Given the description of an element on the screen output the (x, y) to click on. 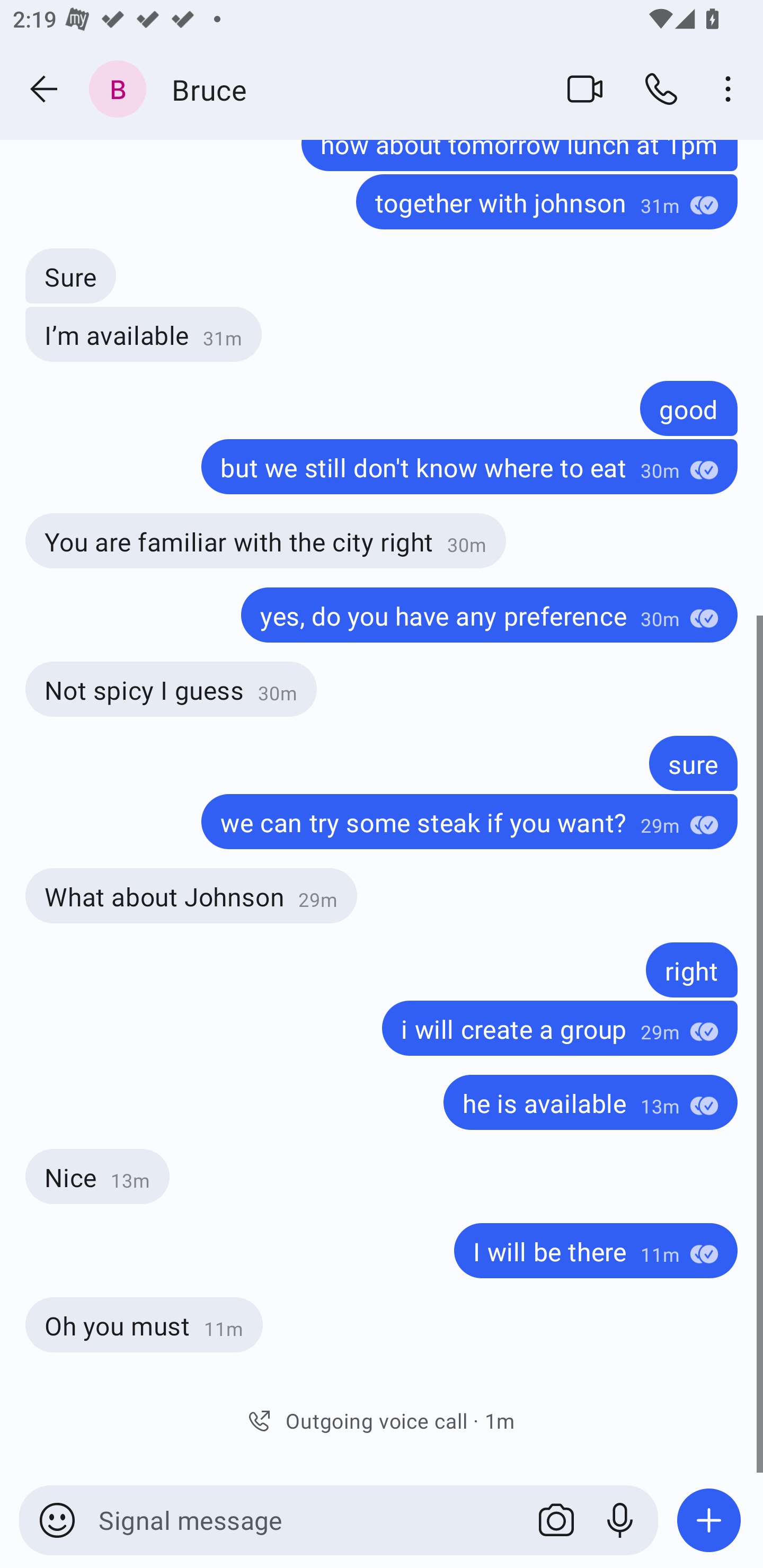
More options (731, 88)
